Given the description of an element on the screen output the (x, y) to click on. 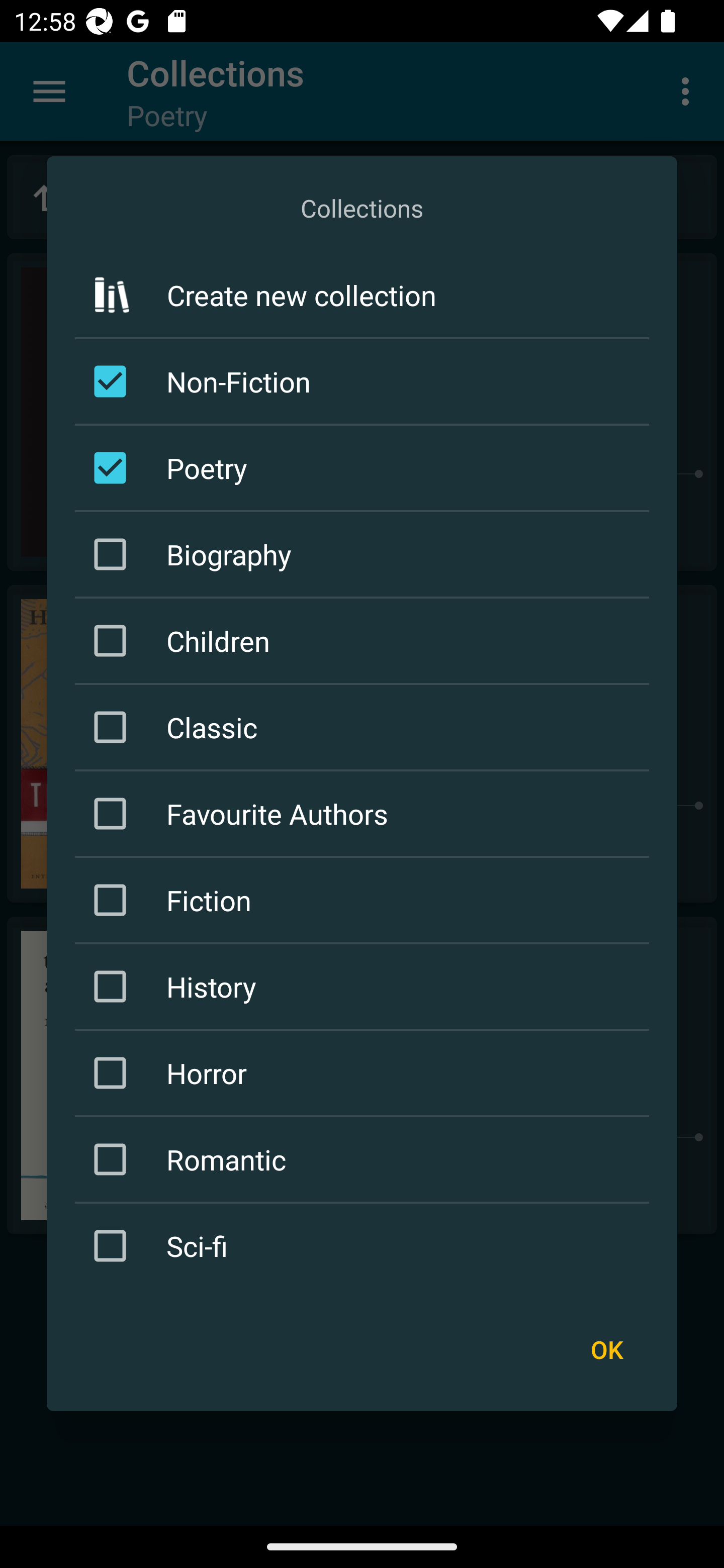
Create new collection (361, 294)
Non-Fiction (365, 380)
Poetry (365, 466)
Biography (365, 553)
Children (365, 640)
Classic (365, 727)
Favourite Authors (365, 813)
Fiction (365, 899)
History (365, 985)
Horror (365, 1072)
Romantic (365, 1158)
Sci-fi (365, 1245)
OK (606, 1349)
